Given the description of an element on the screen output the (x, y) to click on. 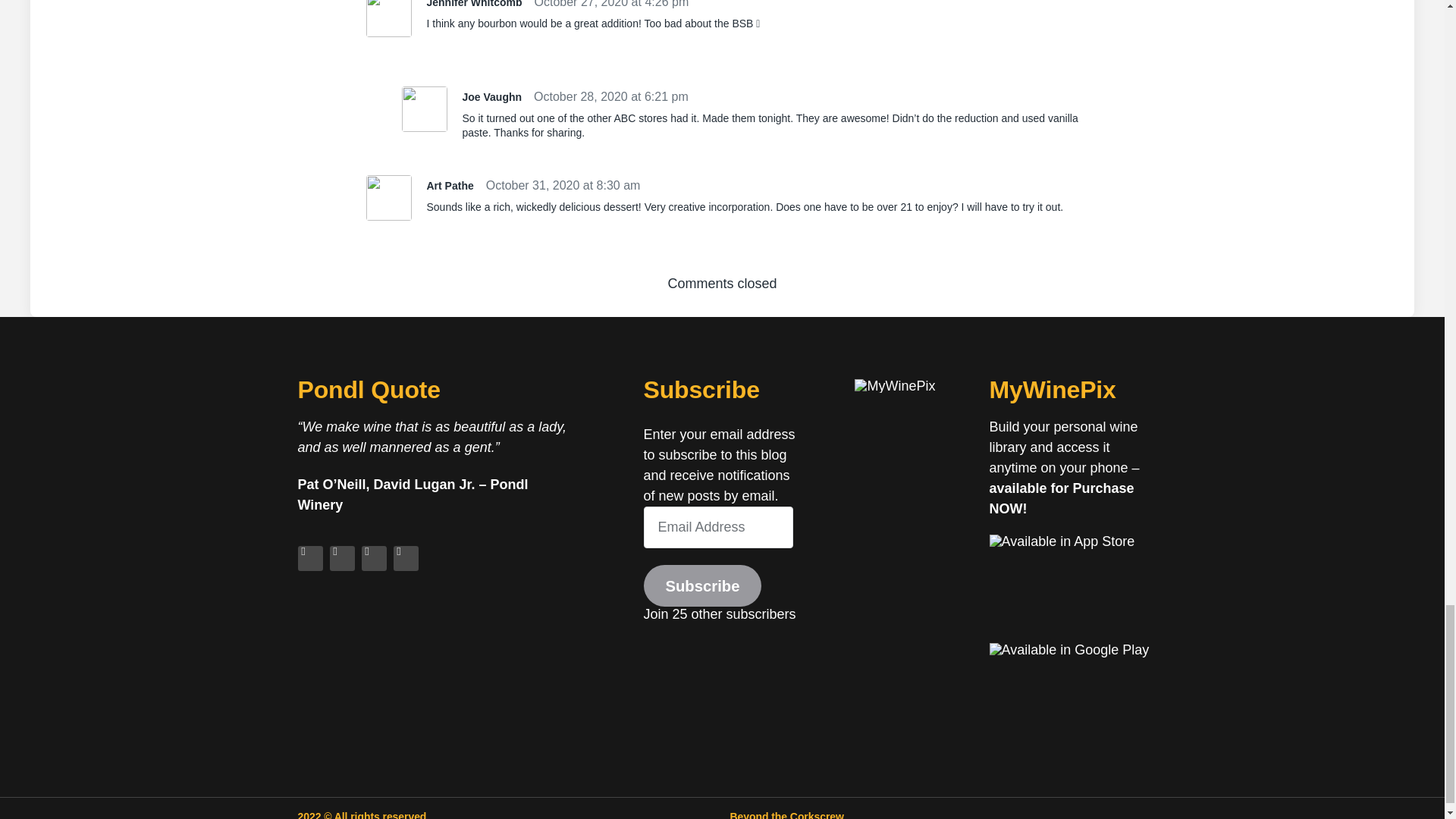
October 31, 2020 at 8:30 am (563, 185)
October 28, 2020 at 6:21 pm (611, 97)
Subscribe (702, 585)
October 27, 2020 at 4:26 pm (611, 4)
MyWinePix (894, 386)
Jennifer Whitcomb (473, 4)
